Given the description of an element on the screen output the (x, y) to click on. 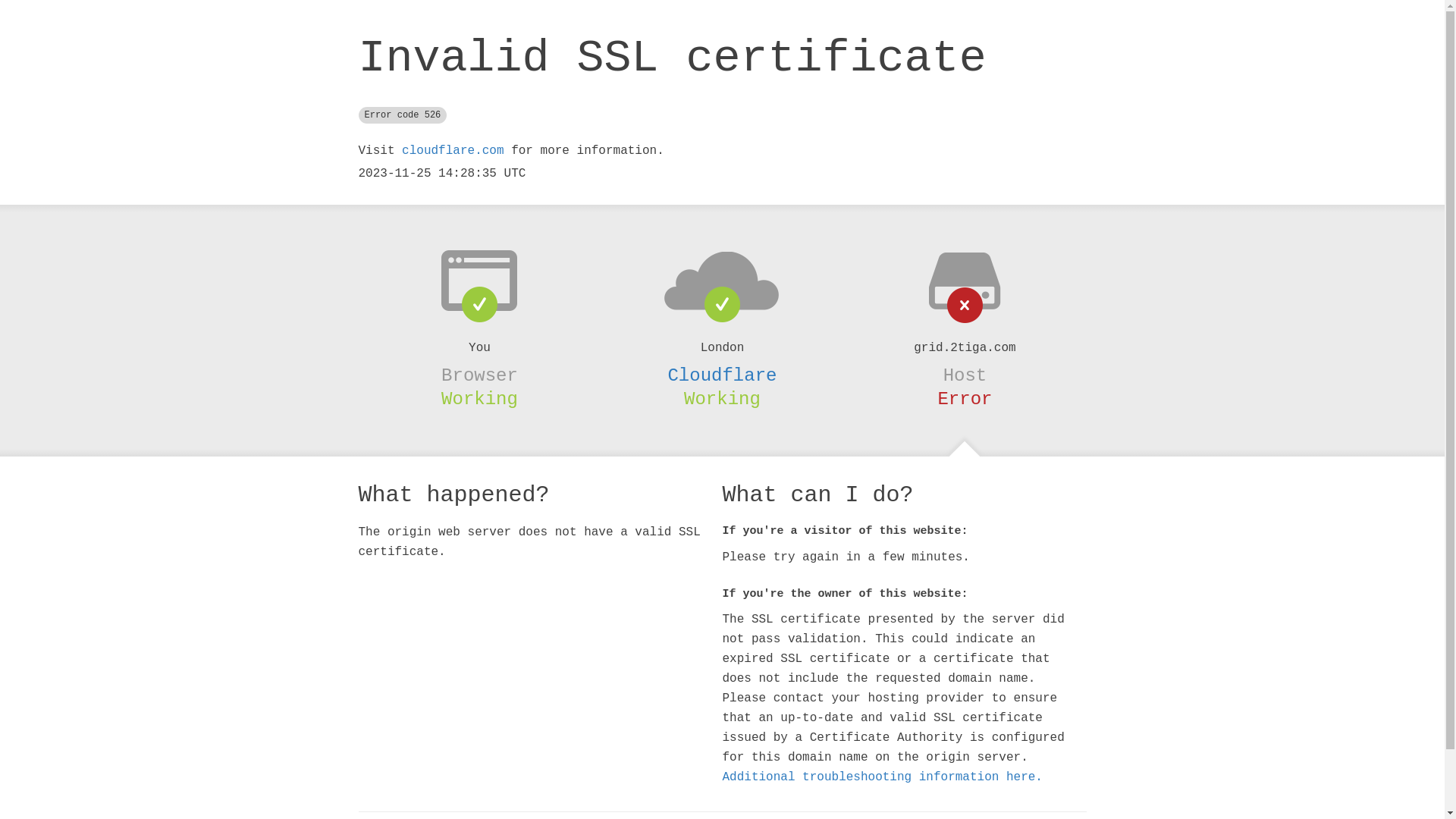
Additional troubleshooting information here. Element type: text (881, 777)
cloudflare.com Element type: text (452, 150)
Cloudflare Element type: text (721, 375)
